Given the description of an element on the screen output the (x, y) to click on. 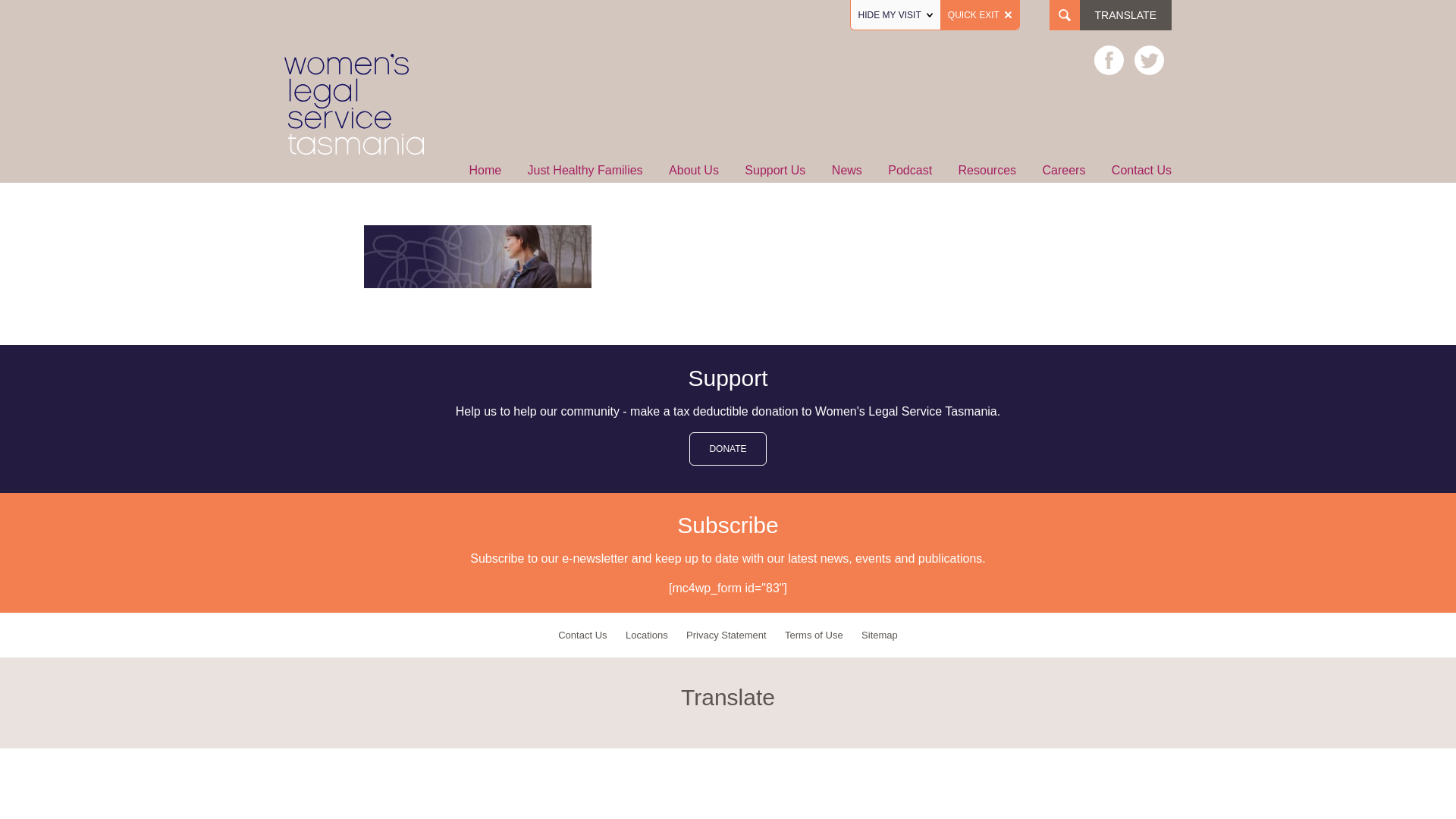
Just Healthy Families (585, 171)
Privacy Statement (726, 635)
Home (484, 171)
Contact Us (582, 635)
Support Us (774, 171)
Search (38, 16)
Womens Legal Service Tasmania (354, 157)
Careers (1063, 171)
About Us (693, 171)
Podcast (909, 171)
TRANSLATE (1126, 15)
Locations (646, 635)
HIDE MY VISIT (895, 15)
Terms of Use (813, 635)
News (846, 171)
